Given the description of an element on the screen output the (x, y) to click on. 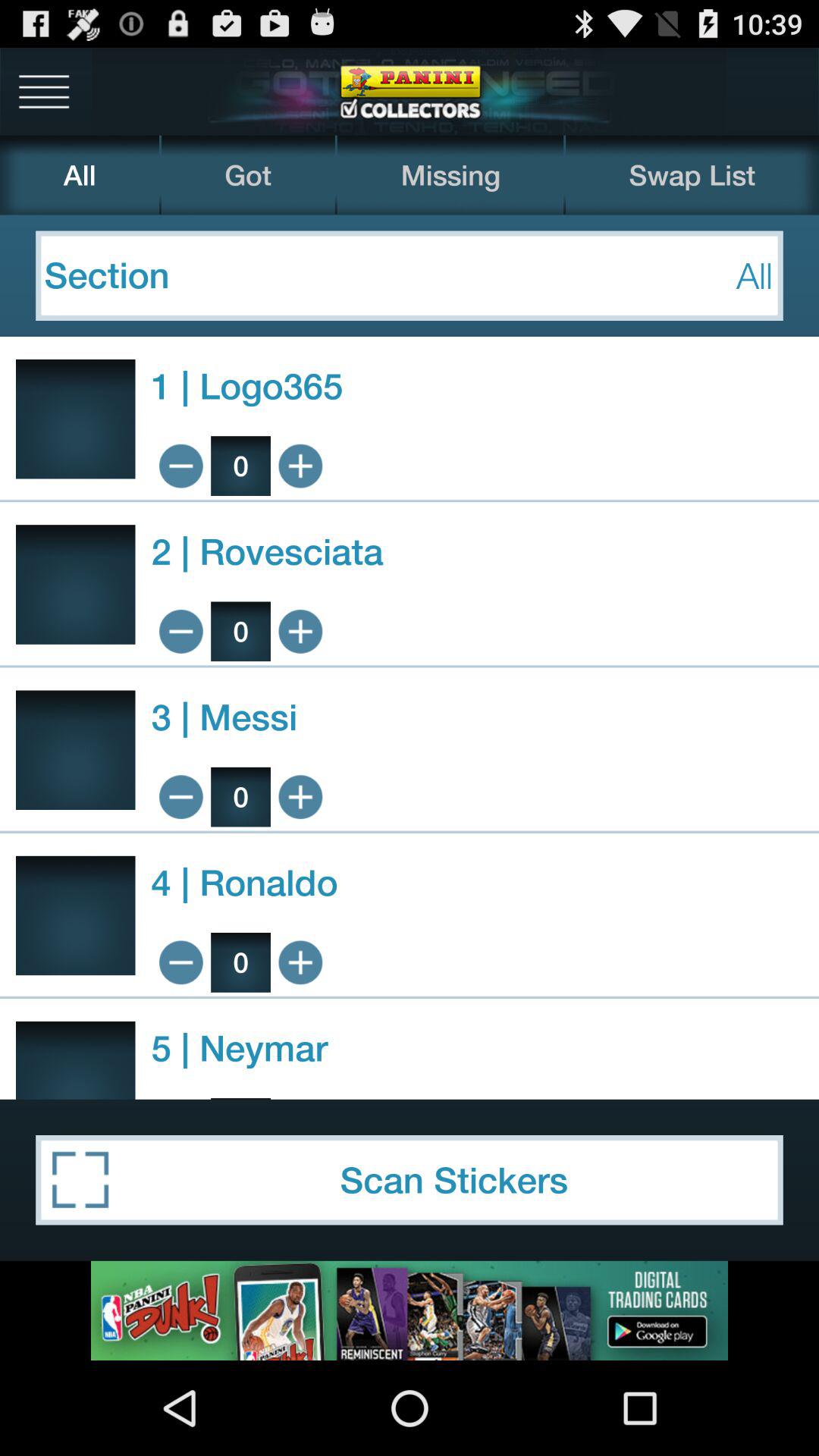
less than button (181, 962)
